Given the description of an element on the screen output the (x, y) to click on. 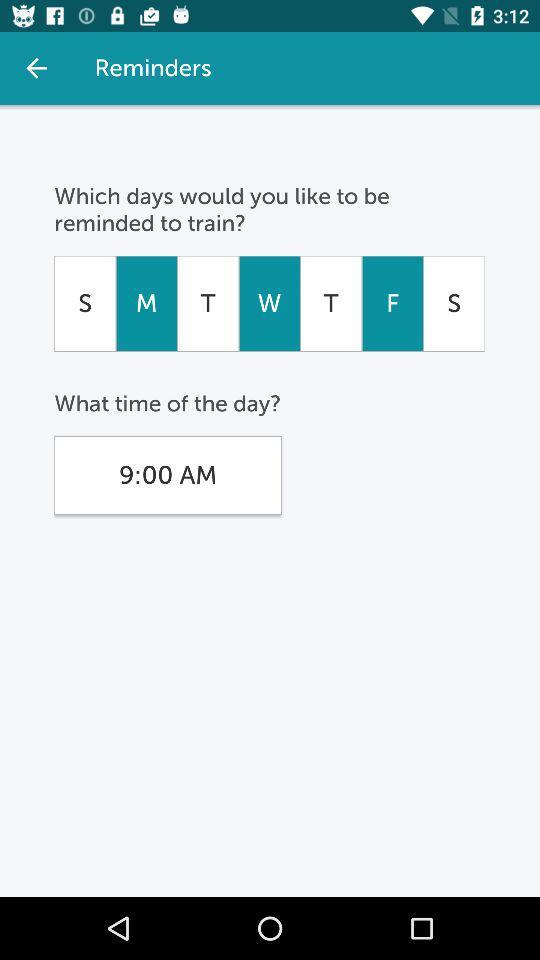
turn off the f icon (392, 303)
